Given the description of an element on the screen output the (x, y) to click on. 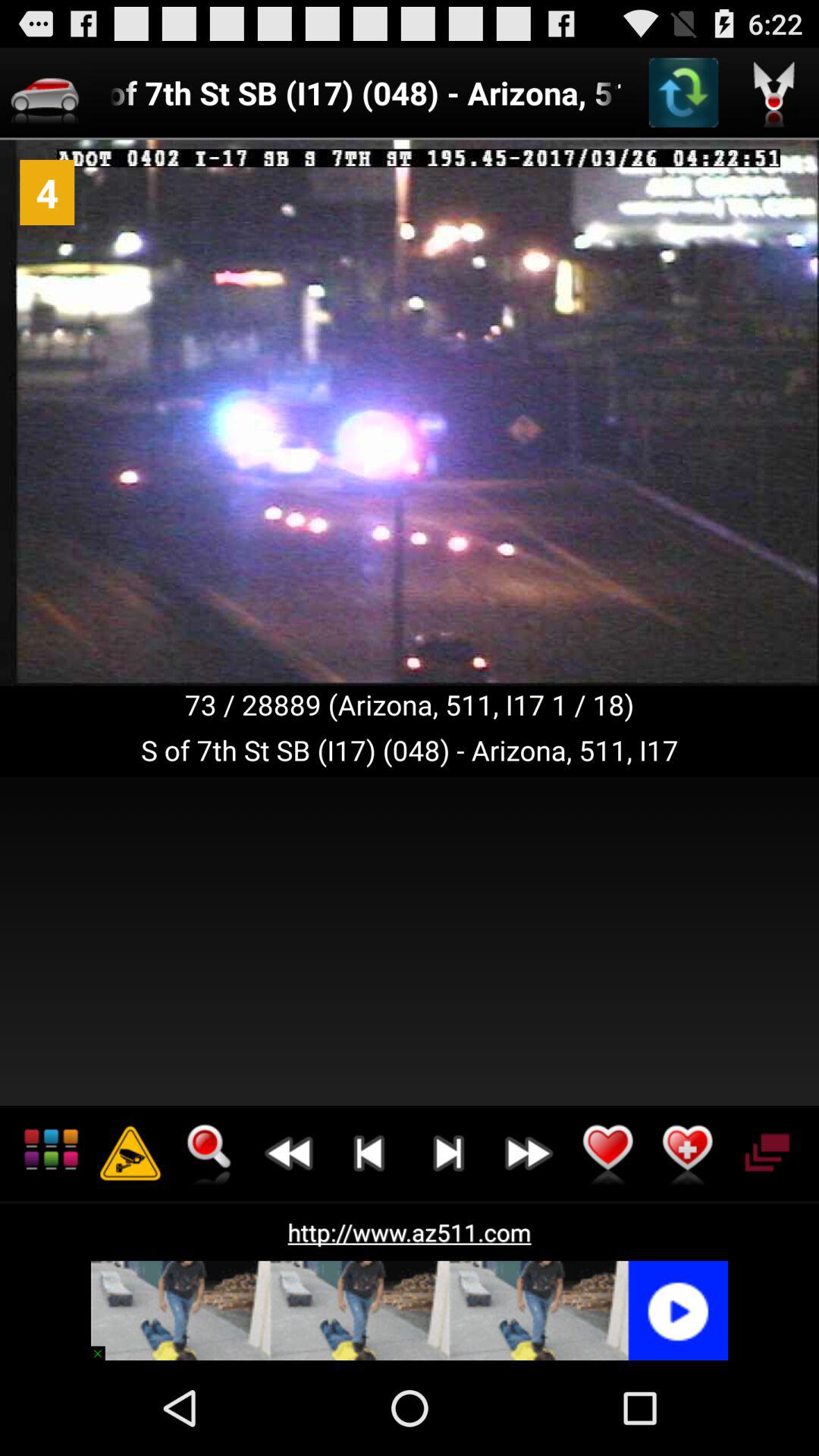
open advertisement (409, 1310)
